Given the description of an element on the screen output the (x, y) to click on. 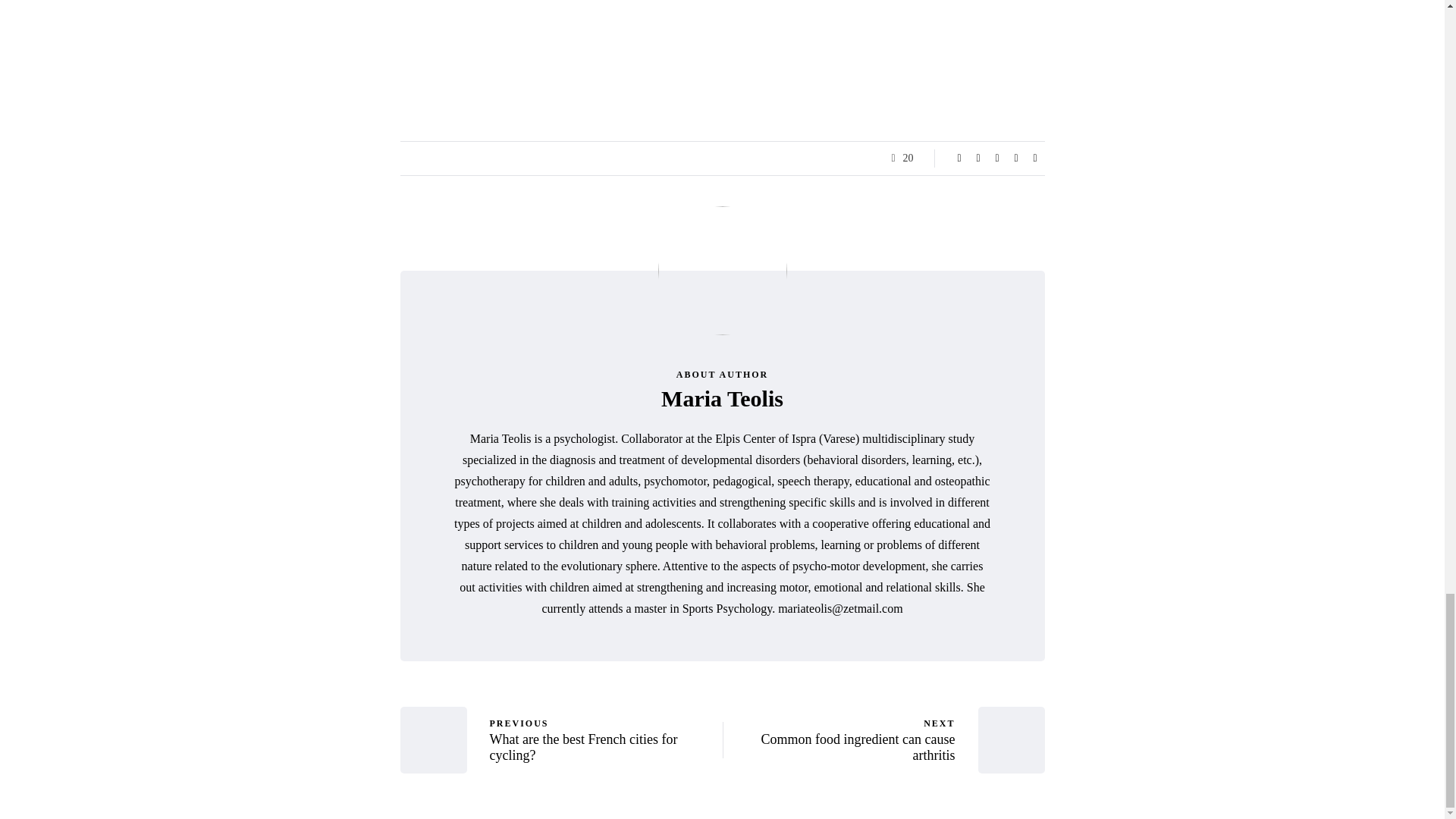
Share to WhatsApp (1034, 158)
Maria Teolis (605, 739)
Share with LinkedIn (722, 398)
Tweet this (996, 158)
Share with Facebook (978, 158)
Posts by Maria Teolis (838, 739)
Pin this (958, 158)
